Given the description of an element on the screen output the (x, y) to click on. 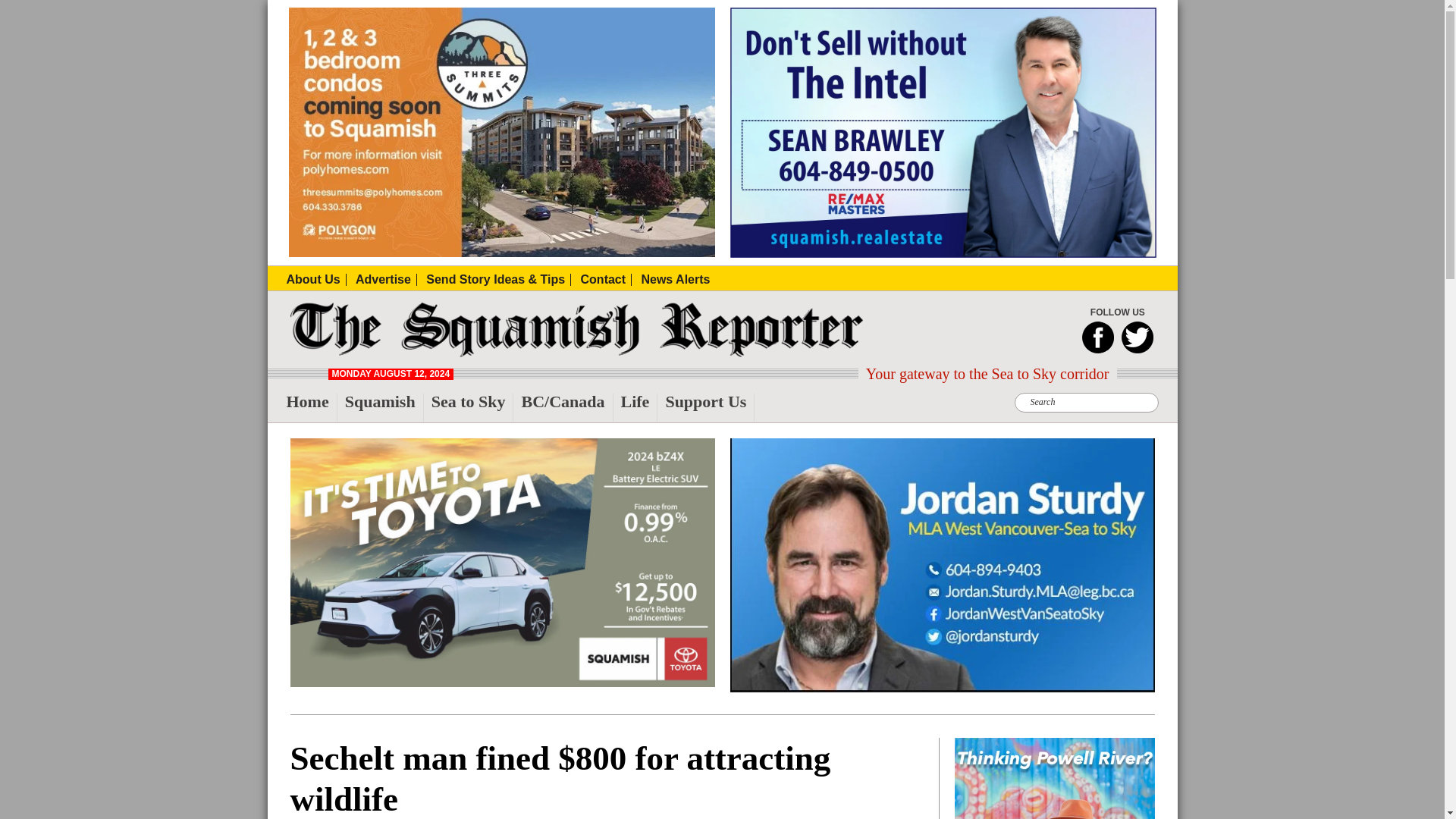
About Us (316, 279)
Advertise (385, 279)
Squamish (384, 407)
Life (639, 407)
News Alerts (675, 279)
Sea to Sky (471, 407)
Home (311, 407)
Support Us (709, 407)
The Squamish Reporter (321, 352)
